Given the description of an element on the screen output the (x, y) to click on. 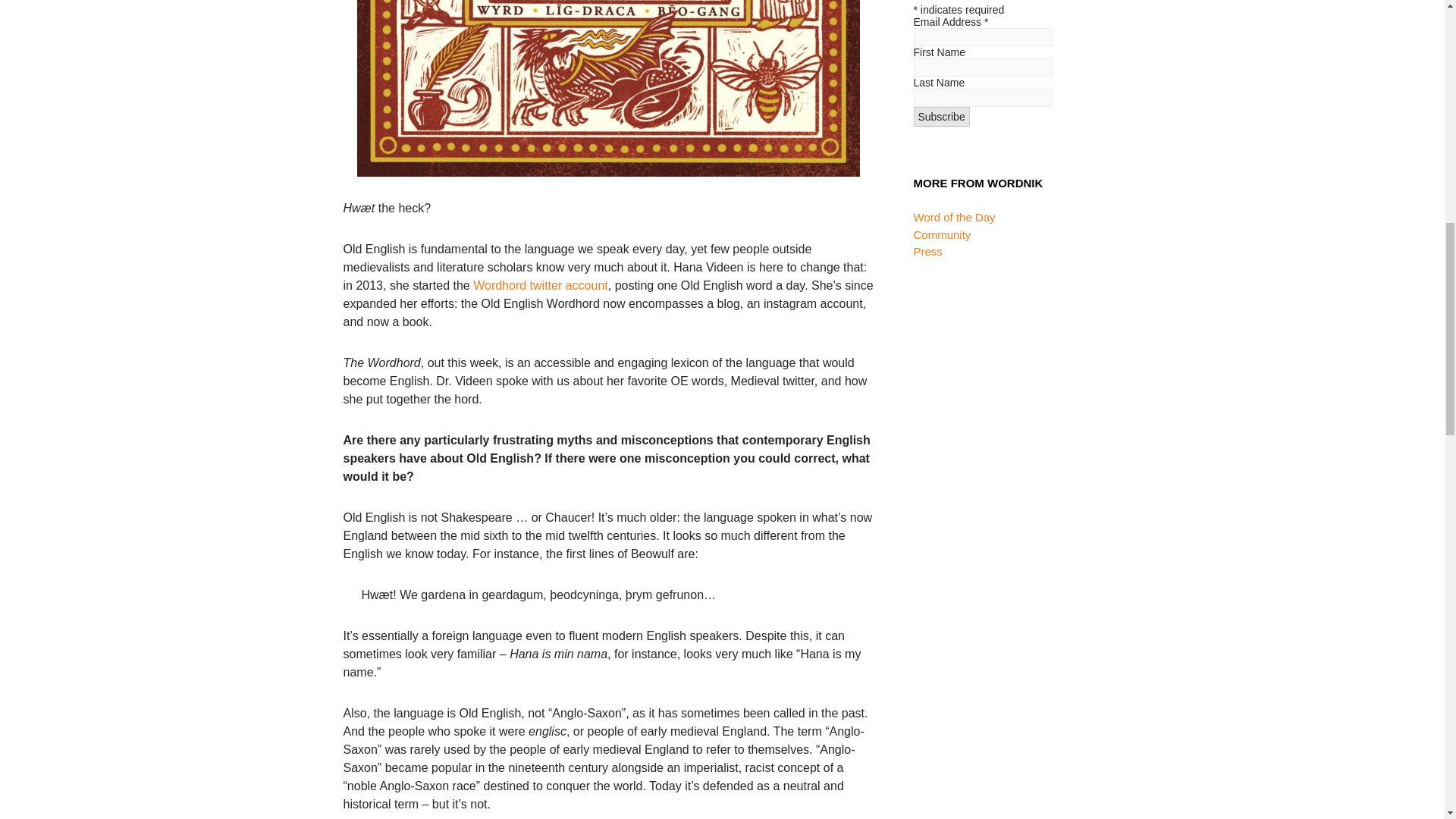
Subscribe (940, 116)
Word of the Day (953, 216)
Subscribe (940, 116)
Press (927, 250)
Wordhord twitter account (540, 285)
Community (941, 234)
